Given the description of an element on the screen output the (x, y) to click on. 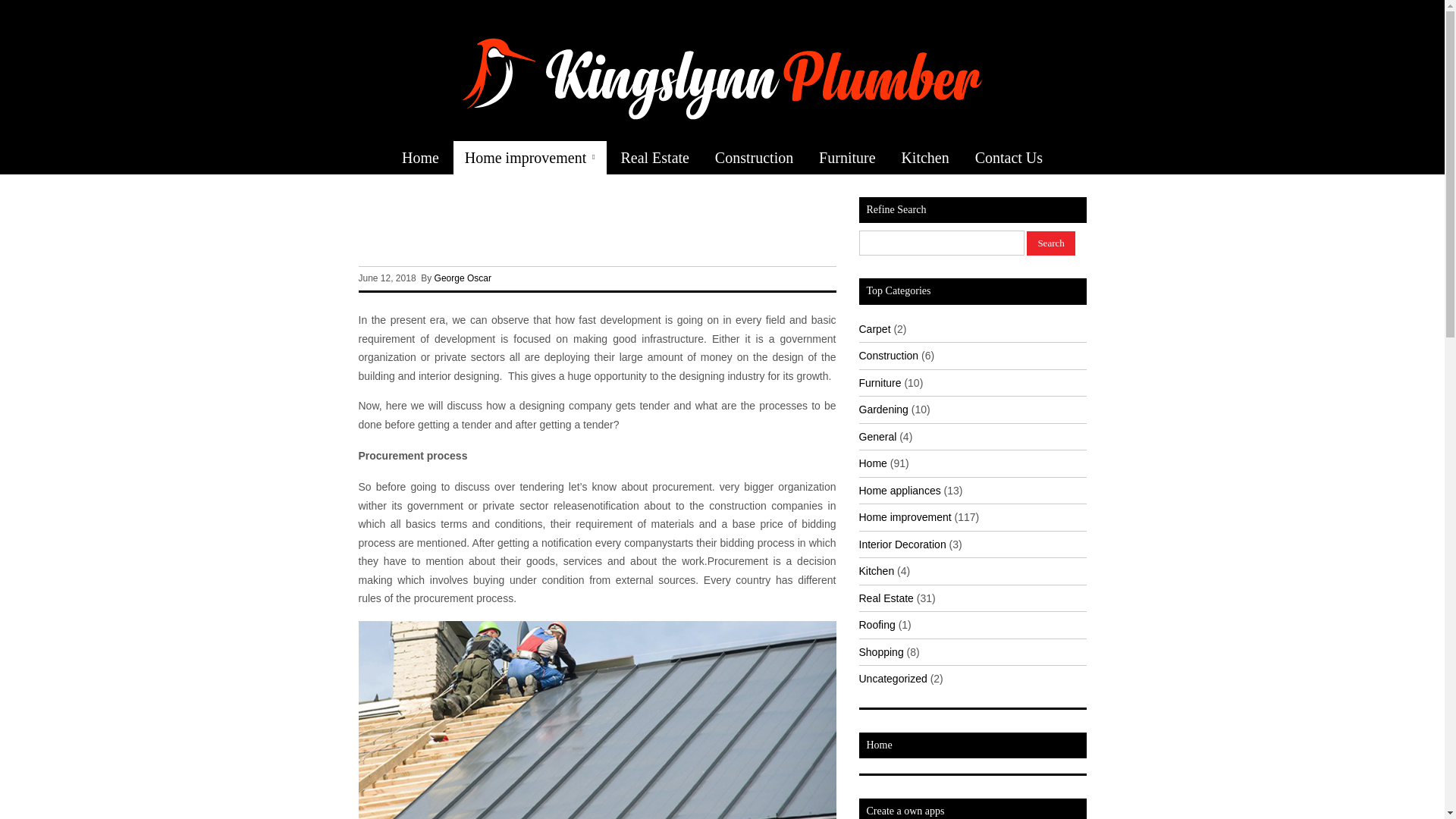
Furniture (847, 157)
Home (872, 463)
Real Estate (654, 157)
Home (419, 157)
Search (1050, 242)
Carpet (874, 328)
Construction (888, 355)
Search (1050, 242)
Construction (754, 157)
George Oscar (462, 277)
